Given the description of an element on the screen output the (x, y) to click on. 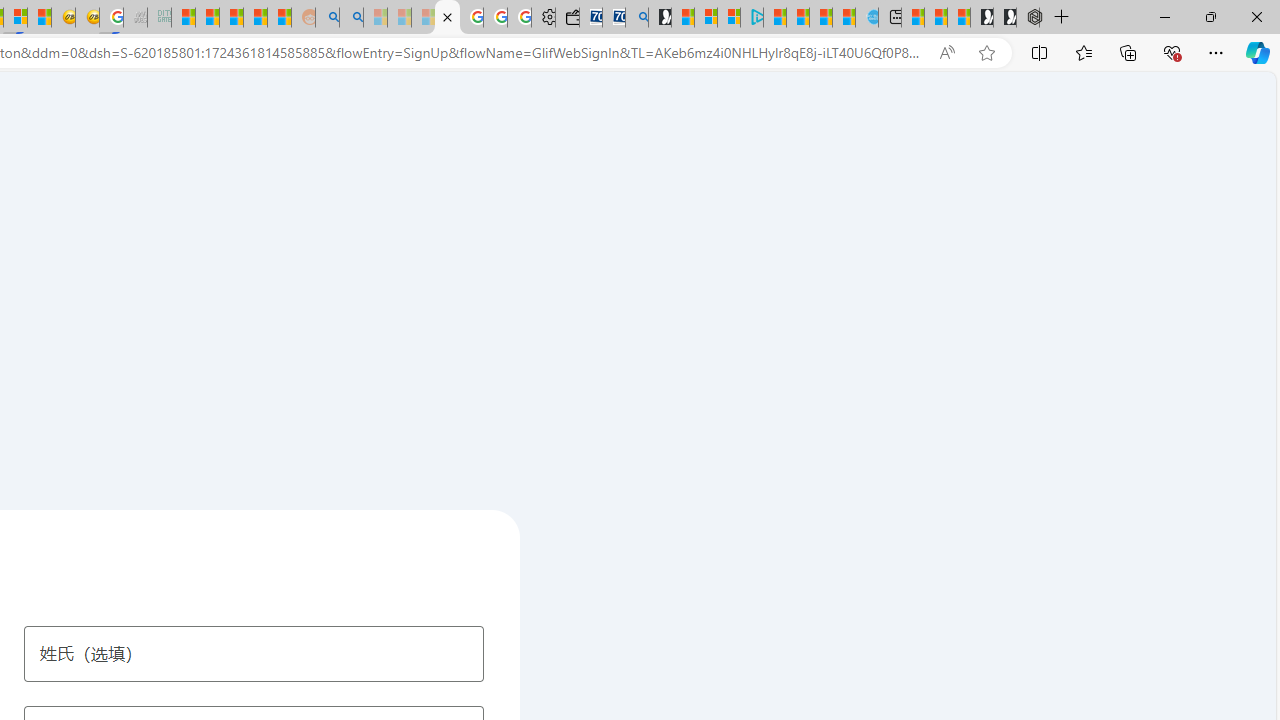
Student Loan Update: Forgiveness Program Ends This Month (255, 17)
